Given the description of an element on the screen output the (x, y) to click on. 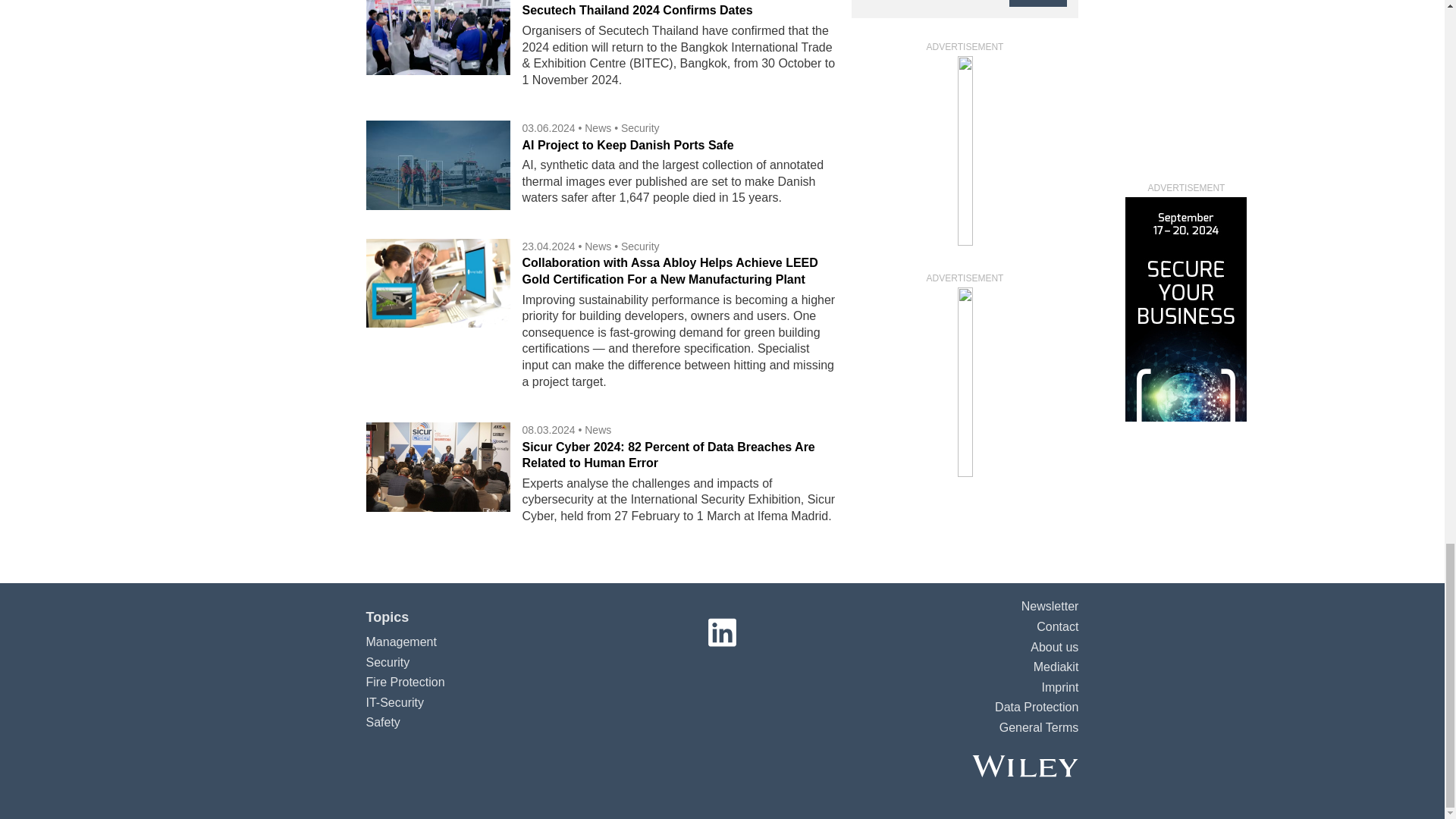
Secutech Thailand 2024 Confirms Dates (636, 10)
AI Project to Keep Danish Ports Safe (627, 144)
